Given the description of an element on the screen output the (x, y) to click on. 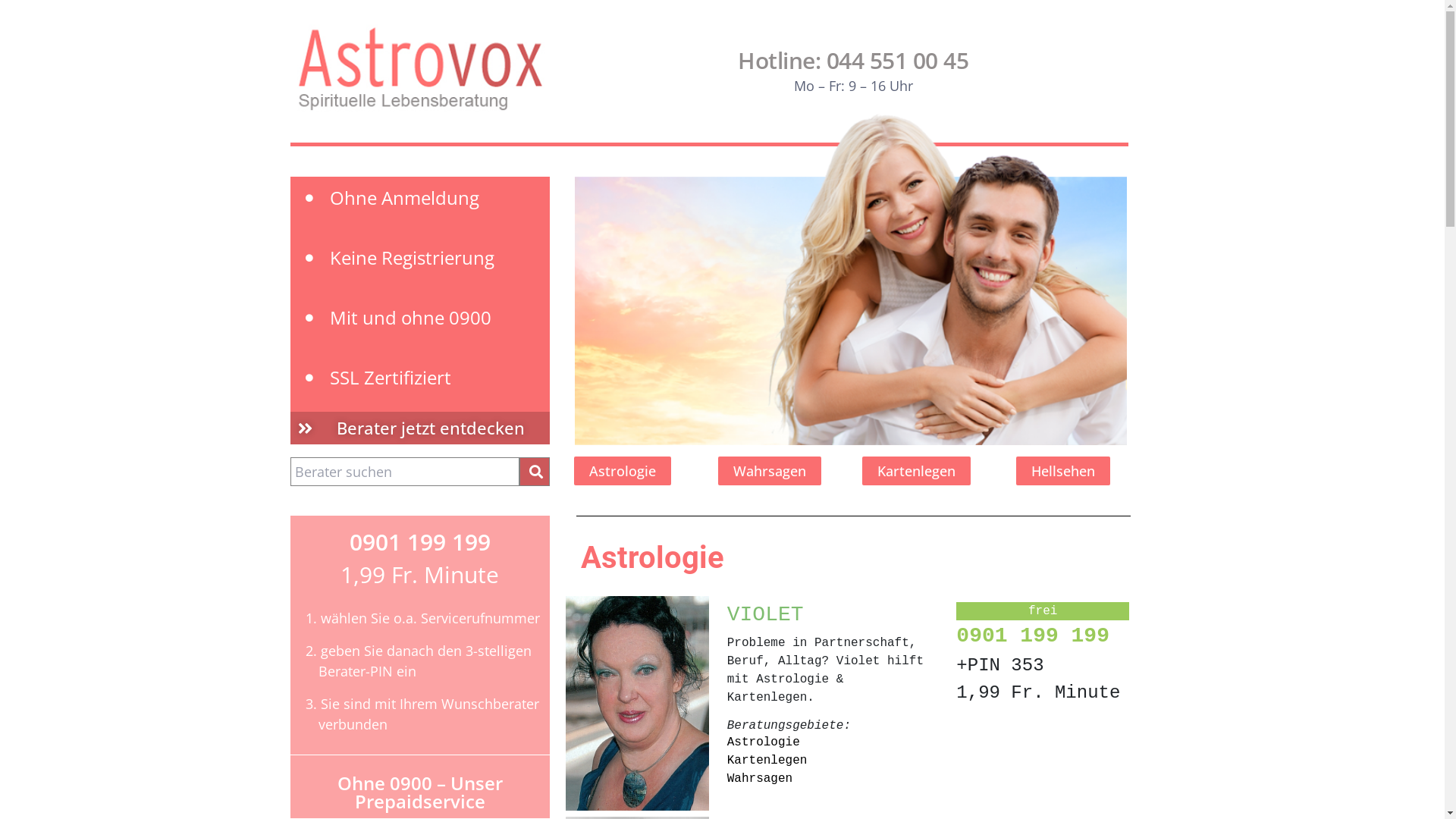
Hellsehen Element type: text (1063, 470)
Astrologie Element type: text (622, 470)
Kartenlegen Element type: text (767, 760)
0901 199 199 Element type: text (1032, 635)
Search Element type: hover (533, 471)
Search Element type: hover (403, 471)
Wahrsagen Element type: text (759, 778)
VIOLET Element type: text (765, 614)
Berater jetzt entdecken Element type: text (419, 427)
Kartenlegen Element type: text (916, 470)
Astrologie Element type: text (763, 742)
Wahrsagen Element type: text (769, 470)
